Given the description of an element on the screen output the (x, y) to click on. 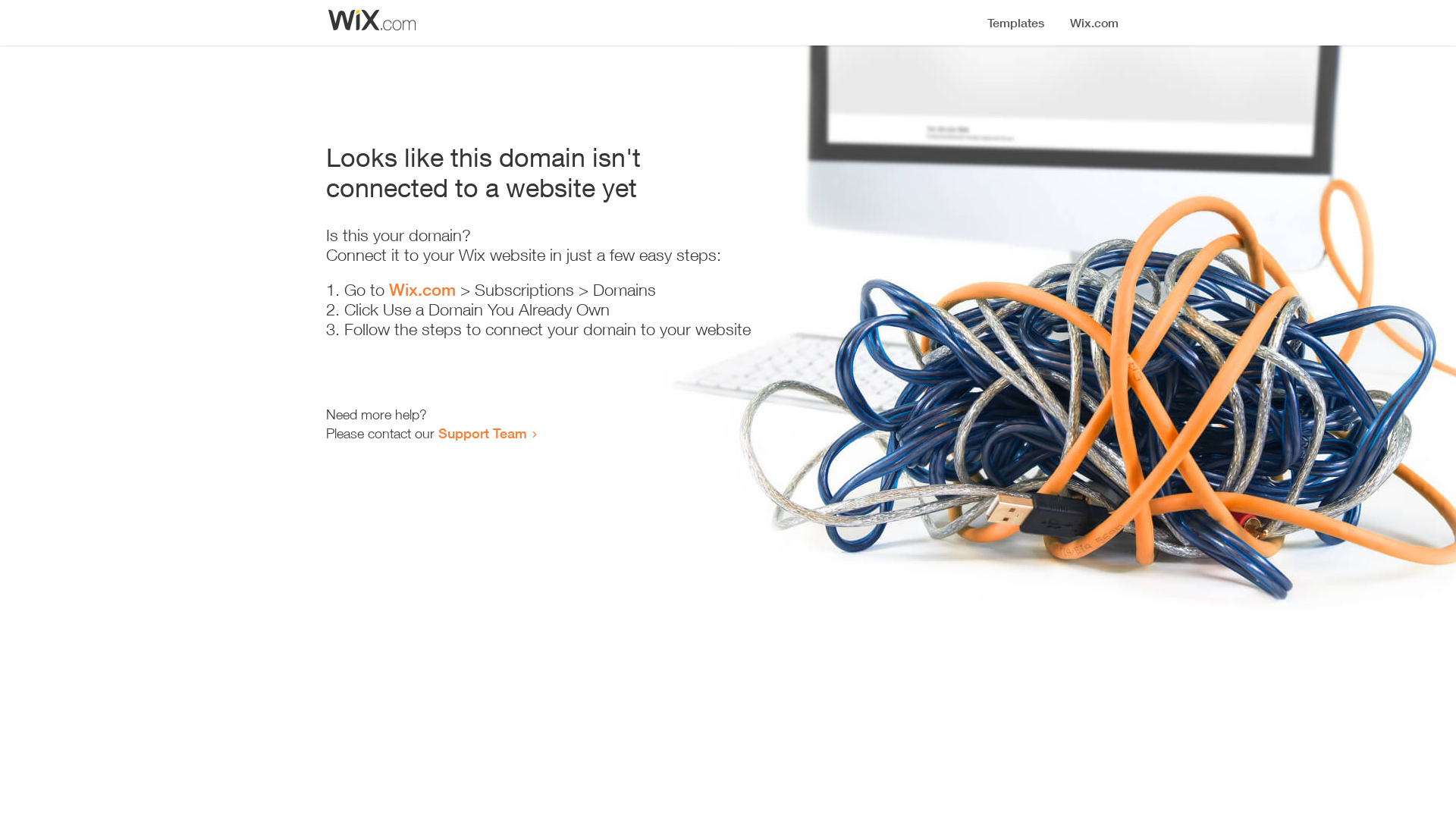
Support Team Element type: text (482, 432)
Wix.com Element type: text (422, 289)
